Given the description of an element on the screen output the (x, y) to click on. 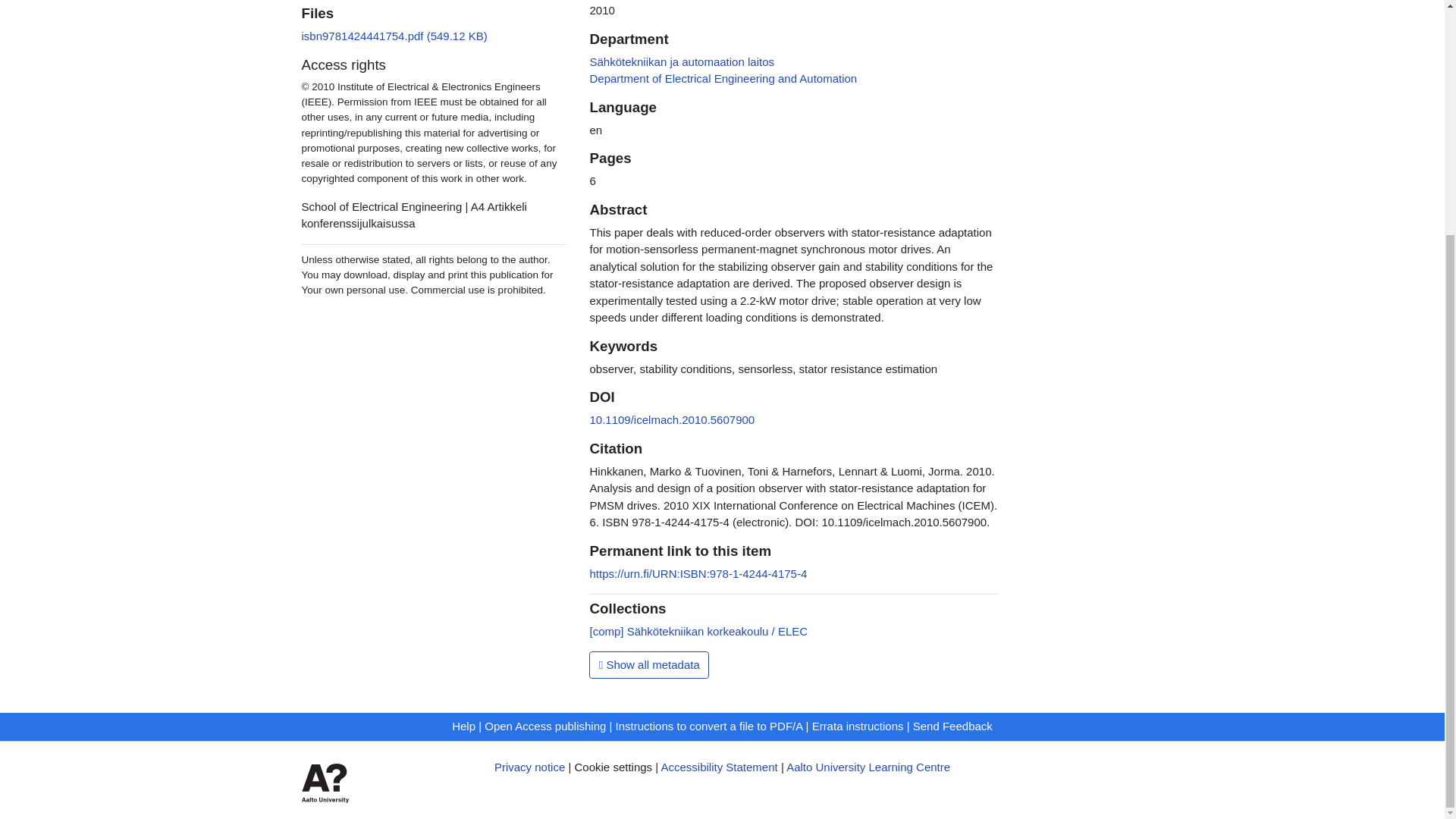
Errata instructions (858, 725)
Department of Electrical Engineering and Automation (723, 78)
Open Access publishing (544, 725)
Accessibility Statement (719, 766)
Show all metadata (649, 664)
Help (463, 725)
Privacy notice (529, 766)
Cookie settings (613, 766)
Send Feedback (952, 725)
Aalto University Learning Centre (868, 766)
